Given the description of an element on the screen output the (x, y) to click on. 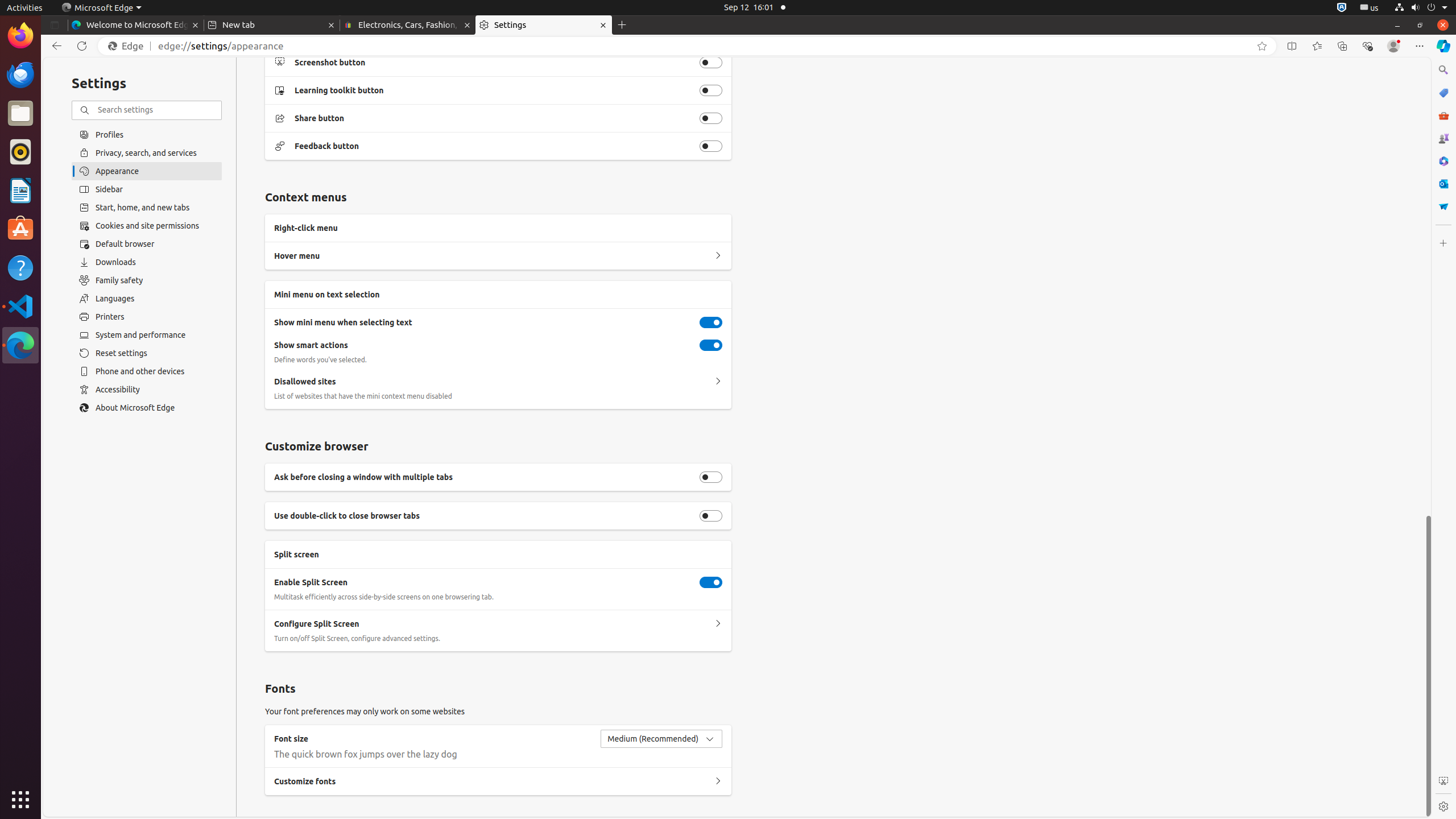
Tools Element type: push-button (1443, 115)
System and performance Element type: tree-item (146, 334)
New Tab Element type: push-button (622, 25)
Show mini menu when selecting text Element type: check-box (710, 322)
Customize fonts Element type: push-button (717, 781)
